Given the description of an element on the screen output the (x, y) to click on. 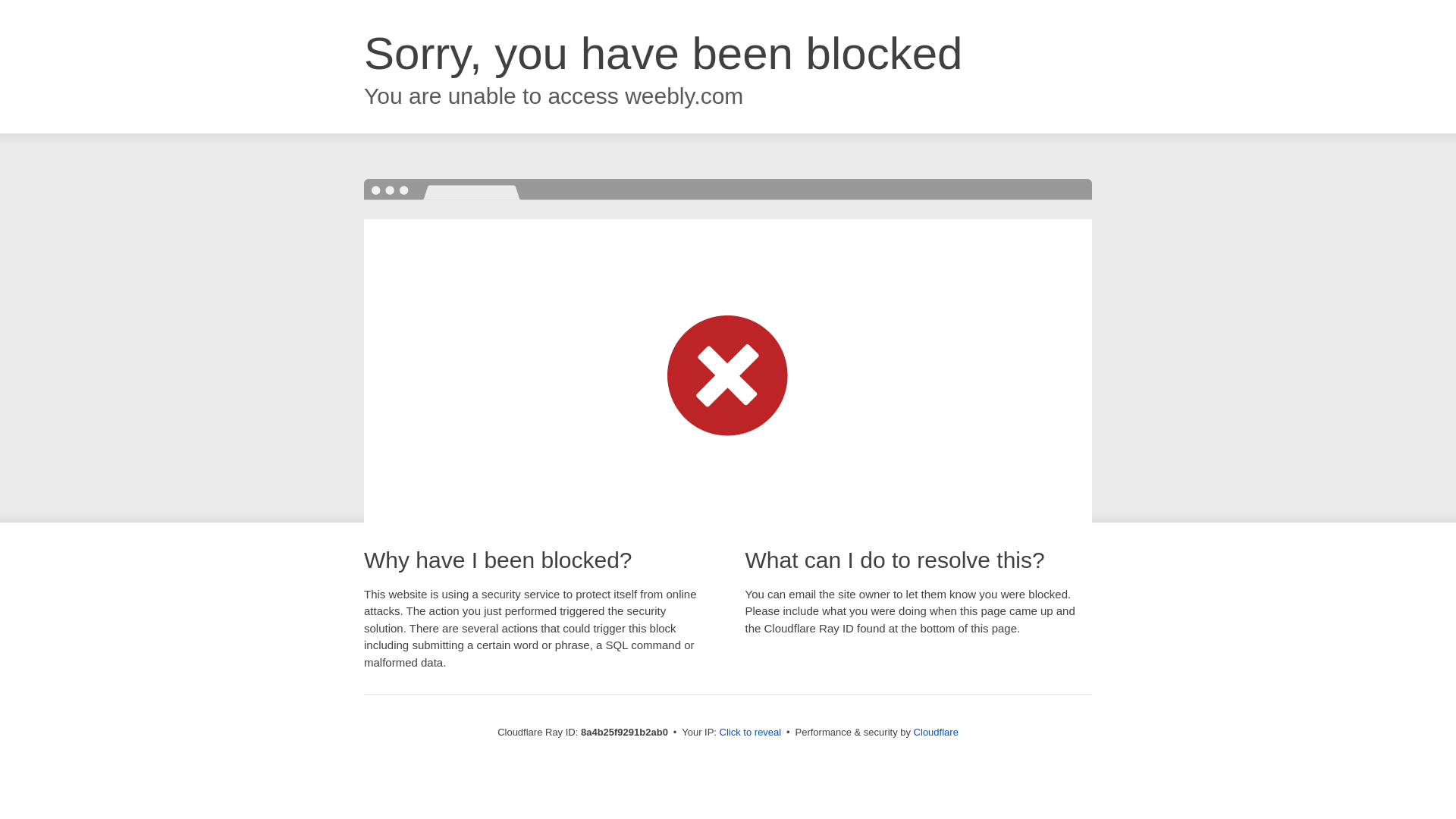
Click to reveal (750, 732)
Cloudflare (936, 731)
